Given the description of an element on the screen output the (x, y) to click on. 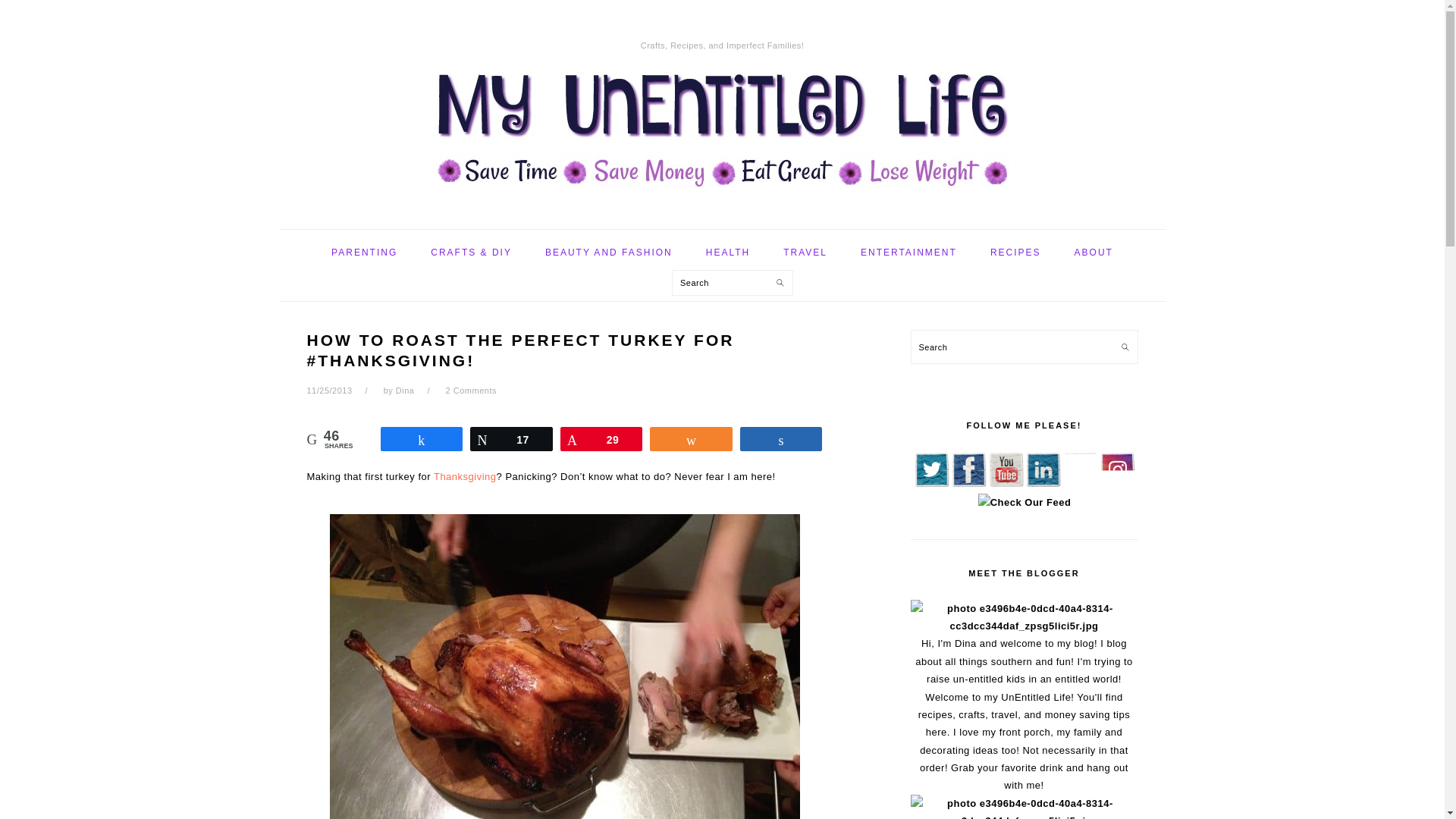
ABOUT (1093, 252)
HEALTH (727, 252)
Visit Us On Instagram (1116, 483)
Visit Us On Facebook (968, 483)
TRAVEL (805, 252)
PARENTING (364, 252)
ENTERTAINMENT (908, 252)
Check Our Feed (1023, 501)
Visit Us On Pinterest (1080, 483)
Visit Us On Twitter (931, 483)
